Given the description of an element on the screen output the (x, y) to click on. 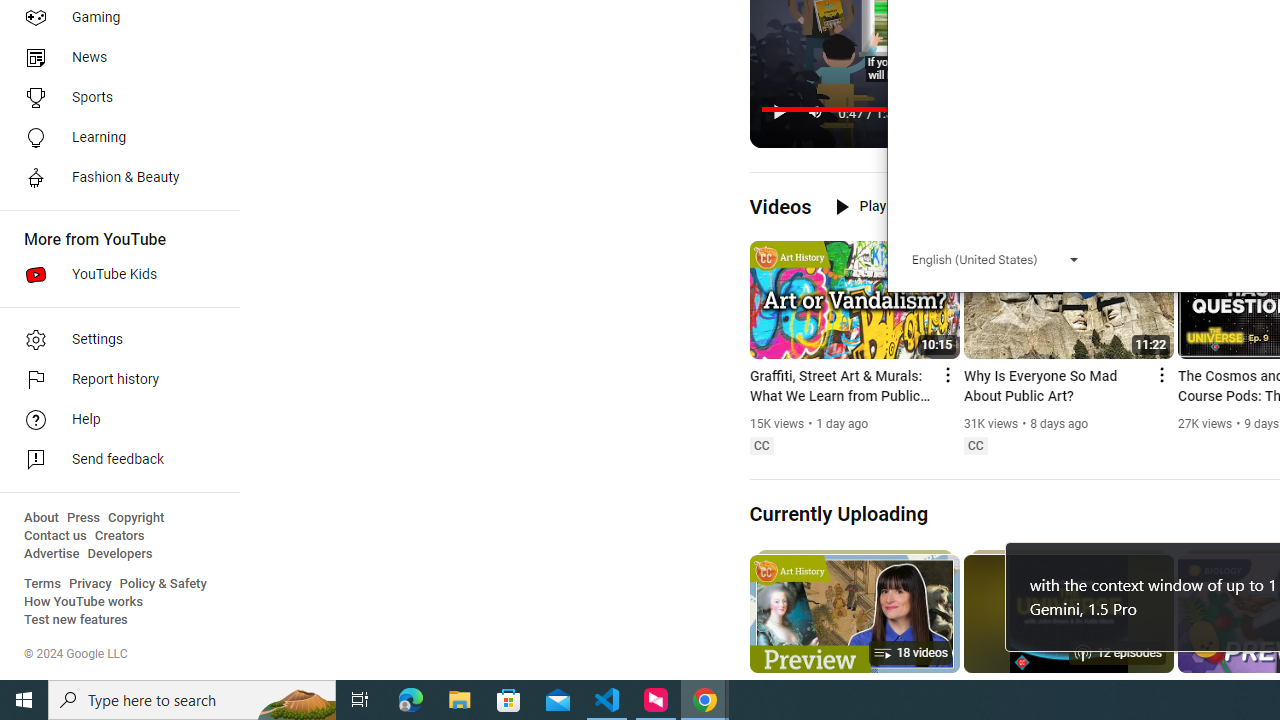
Report history (113, 380)
About (41, 518)
YouTube Kids (113, 274)
News (113, 57)
Press (83, 518)
Start (24, 699)
Creators (118, 536)
Fashion & Beauty (113, 177)
Learning (113, 137)
Developers (120, 554)
Currently Uploading (838, 513)
